Given the description of an element on the screen output the (x, y) to click on. 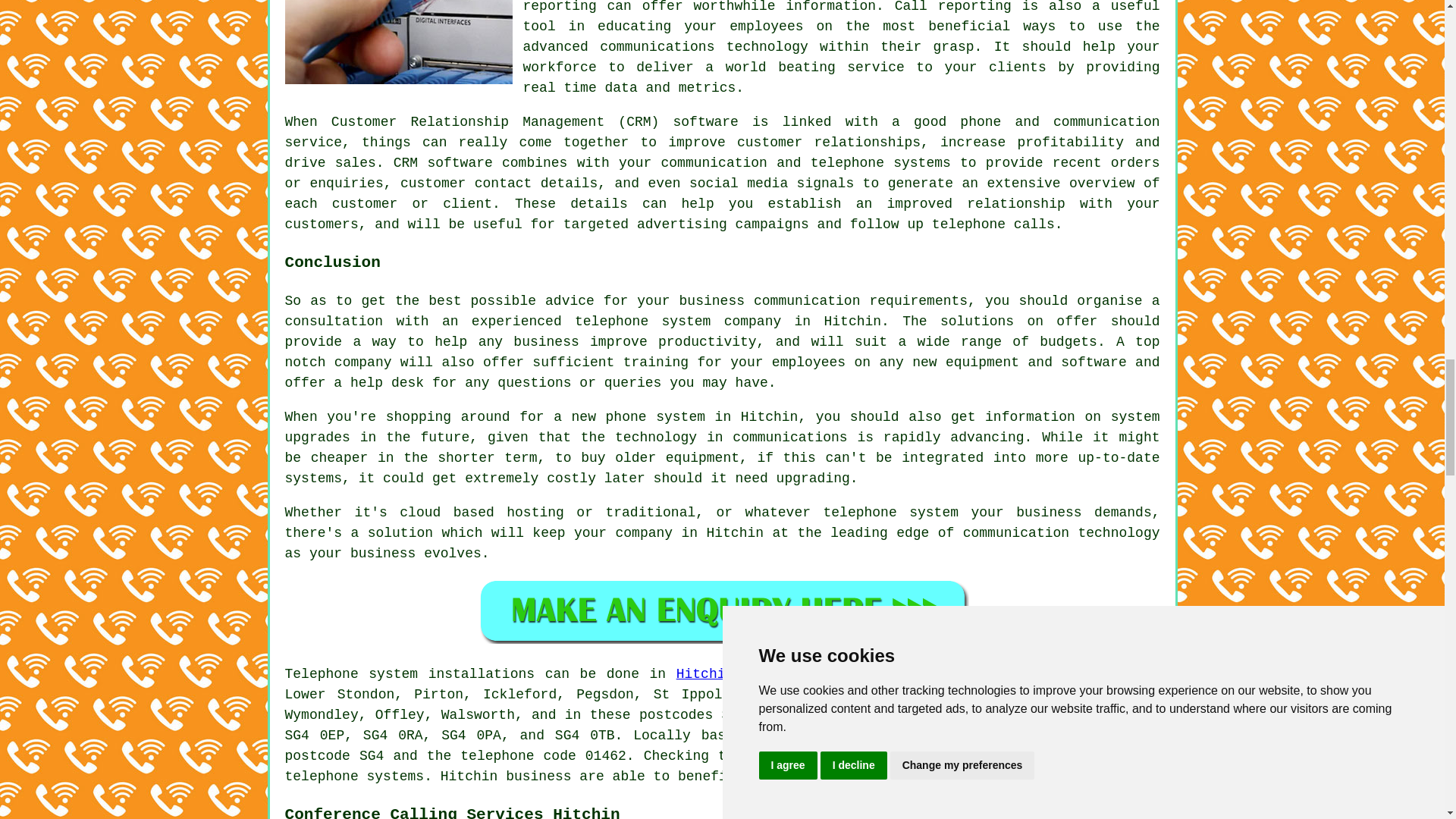
Book a Telephone Engineer in Hitchin UK (722, 610)
